Given the description of an element on the screen output the (x, y) to click on. 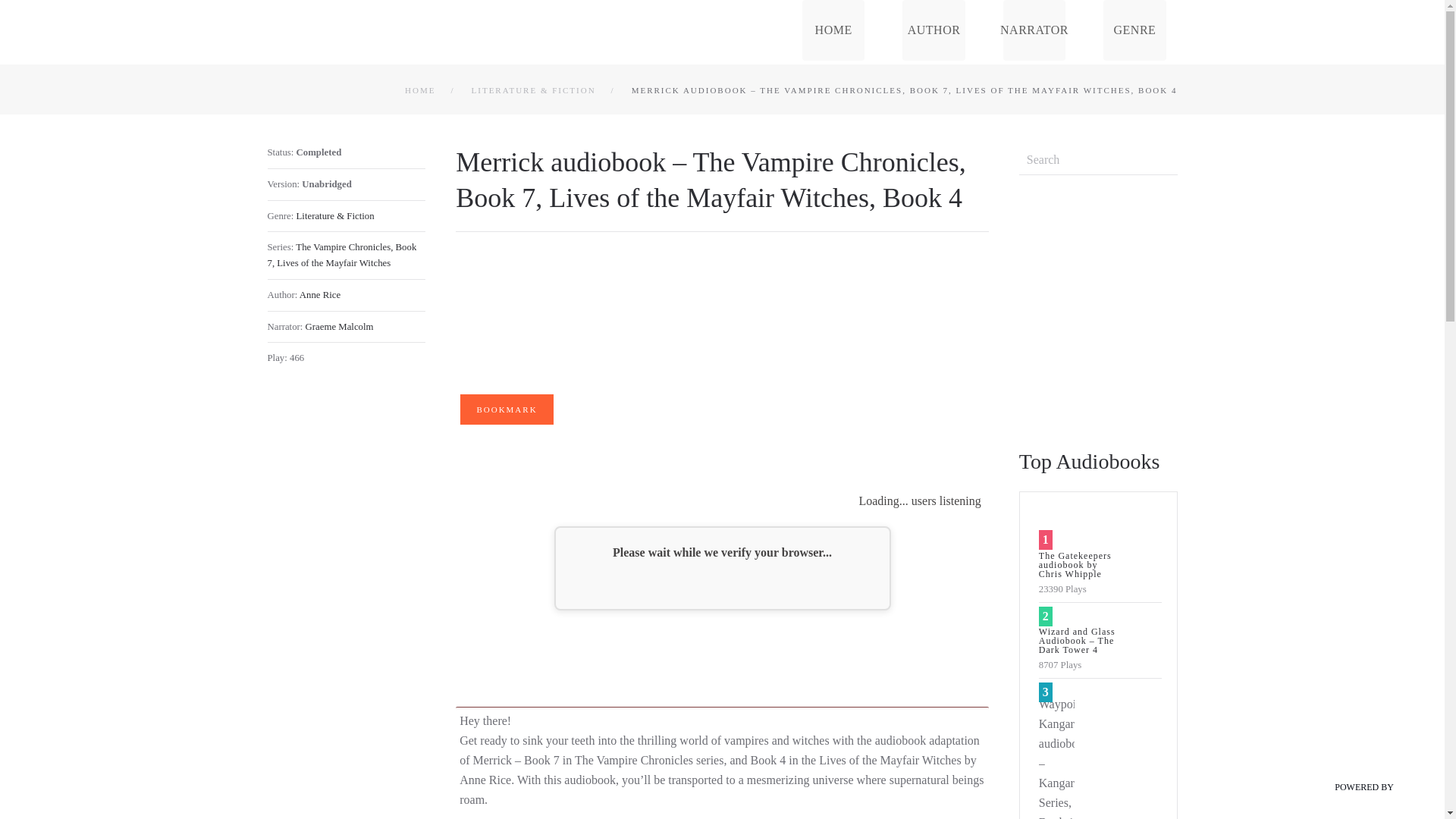
NARRATOR (1034, 30)
Graeme Malcolm (339, 326)
POWERED BY (1367, 788)
HOME (833, 30)
The Gatekeepers audiobook by Chris Whipple (1075, 564)
HOME (419, 90)
The Vampire Chronicles, Book 7, Lives of the Mayfair Witches (341, 254)
Anne Rice (319, 294)
AUTHOR (932, 30)
Anne Rice (319, 294)
